Given the description of an element on the screen output the (x, y) to click on. 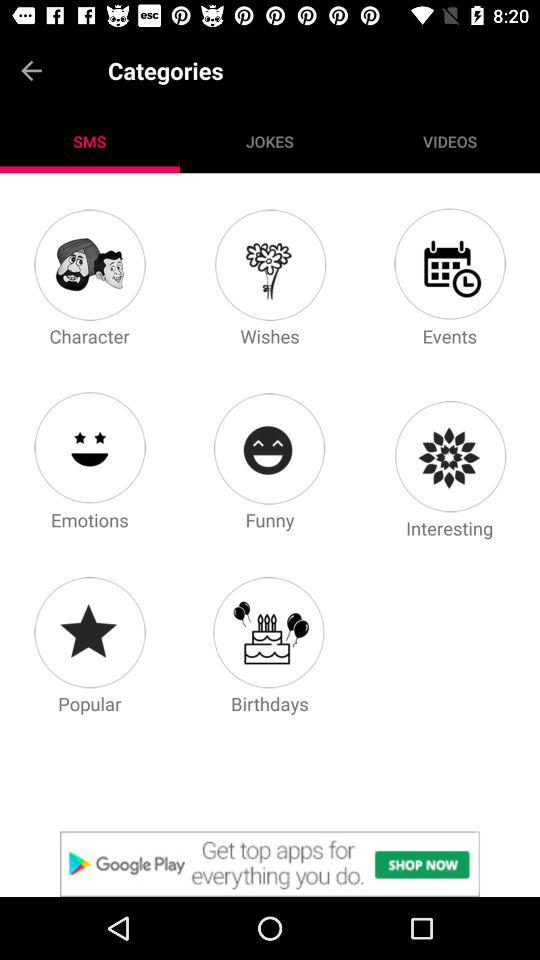
emotions (89, 448)
